Given the description of an element on the screen output the (x, y) to click on. 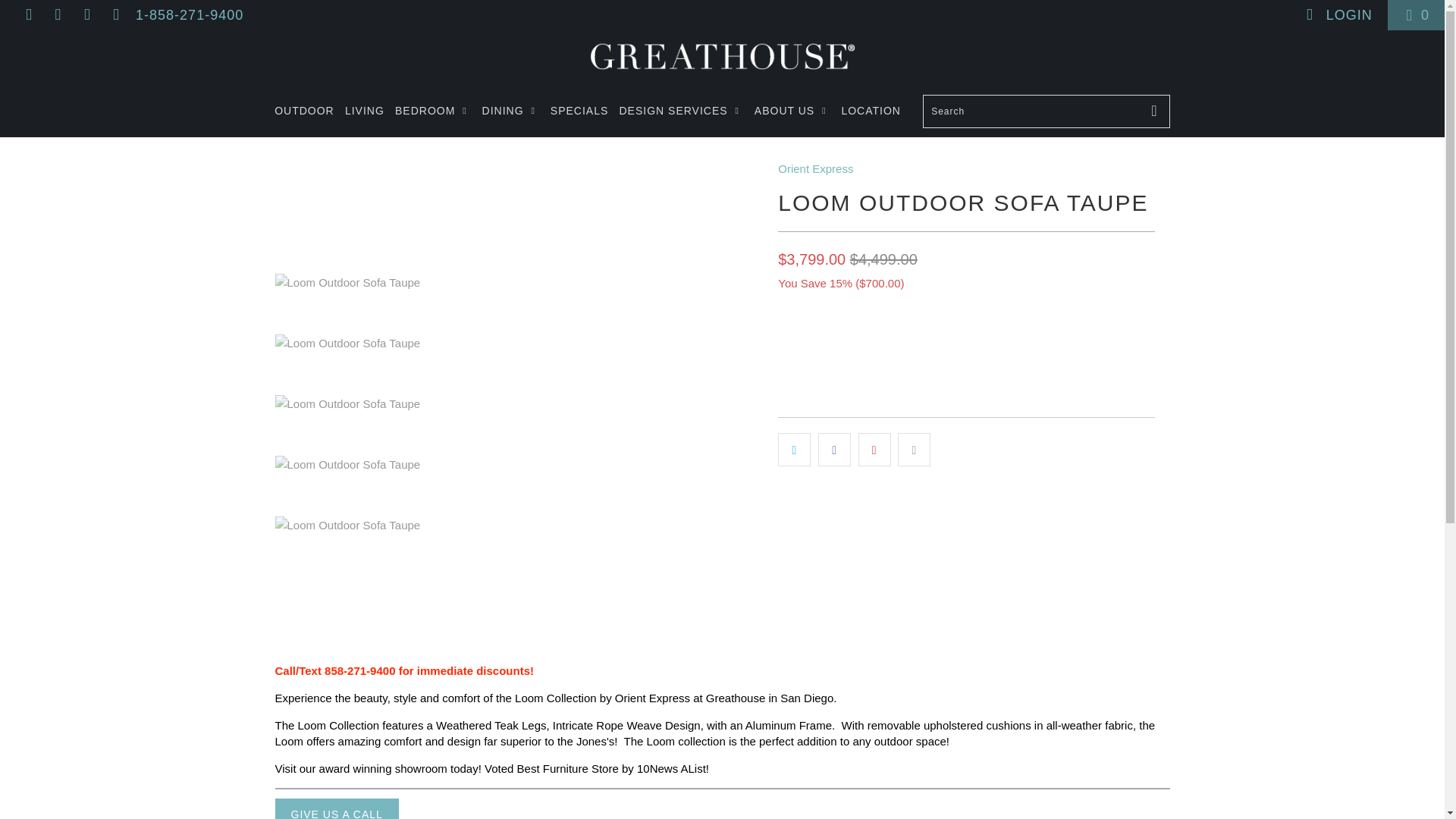
Orient Express (815, 168)
Email this to a friend (914, 449)
Share this on Facebook (834, 449)
Greathouse on Pinterest (86, 14)
Share this on Twitter (793, 449)
My Account  (1337, 15)
Greathouse on Twitter (27, 14)
Share this on Pinterest (875, 449)
Greathouse on Instagram (114, 14)
Greathouse on Facebook (56, 14)
